Given the description of an element on the screen output the (x, y) to click on. 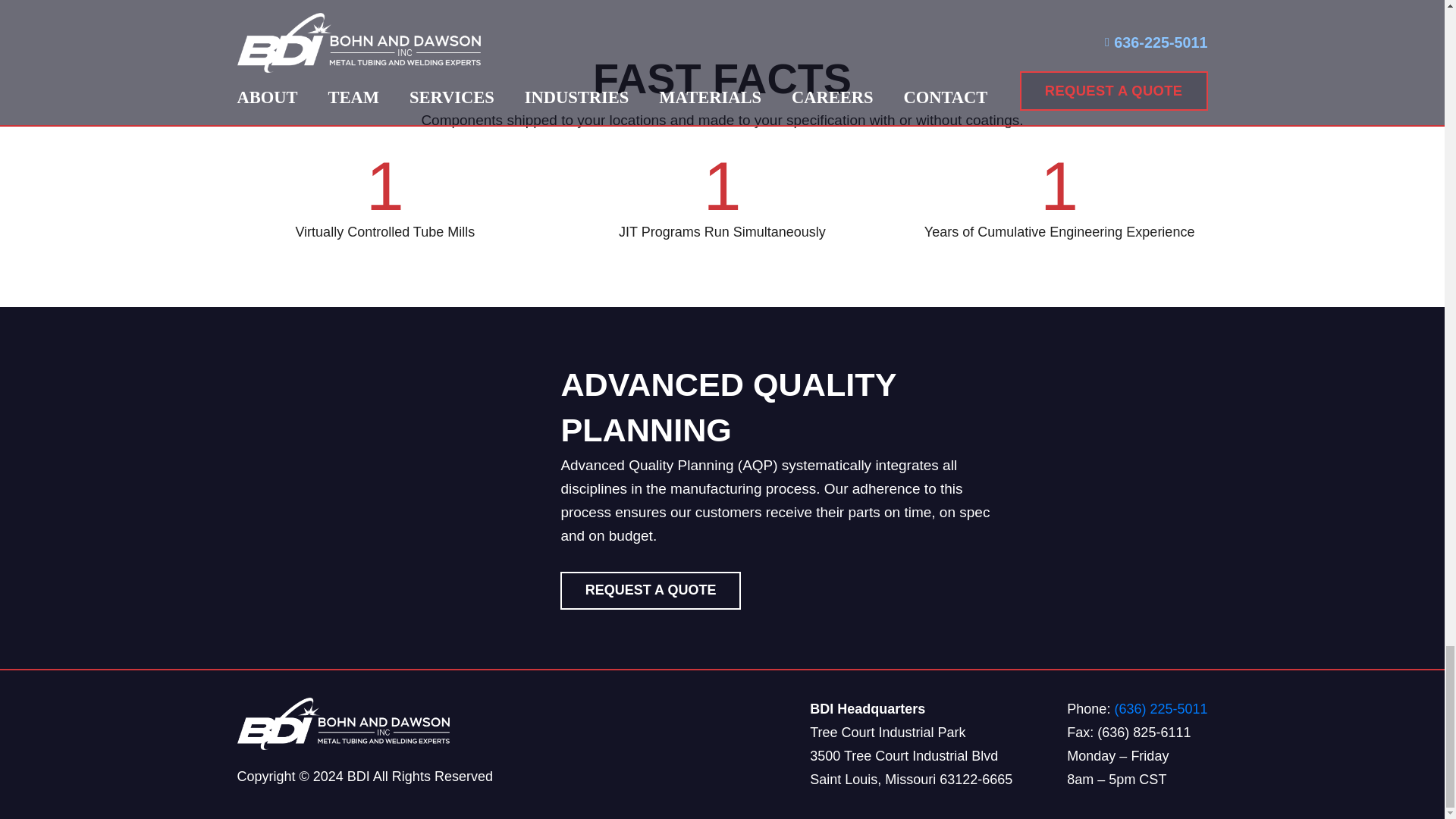
Home (383, 724)
Request a Quote (649, 590)
